Given the description of an element on the screen output the (x, y) to click on. 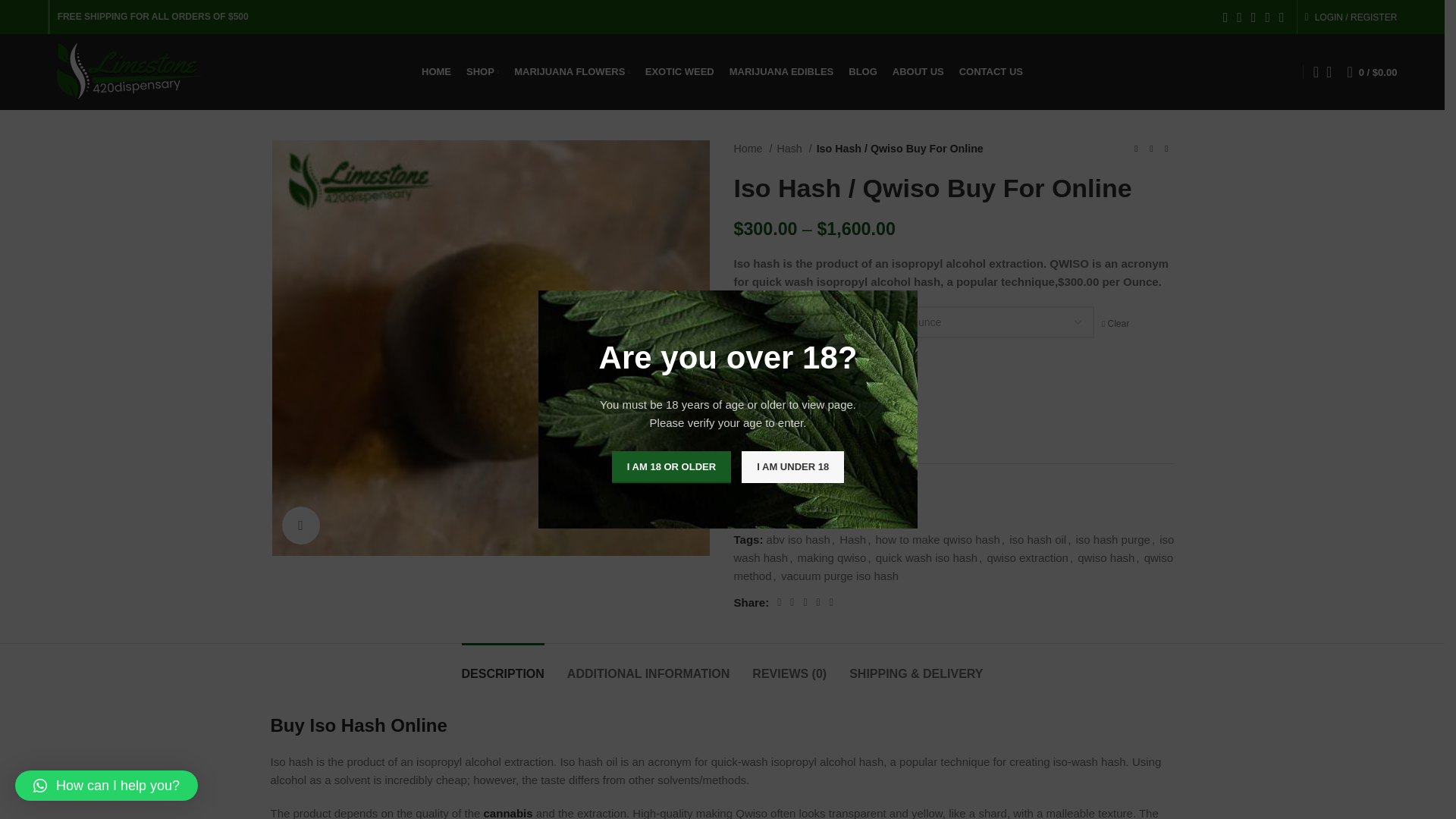
My account (1351, 16)
Hash (793, 149)
ABOUT US (917, 71)
Home (753, 149)
I AM 18 OR OLDER (670, 467)
I AM UNDER 18 (792, 467)
CONTACT US (991, 71)
Shopping cart (1372, 71)
MARIJUANA EDIBLES (780, 71)
SHOP (482, 71)
EXOTIC WEED (679, 71)
HOME (436, 71)
BLOG (862, 71)
MARIJUANA FLOWERS (571, 71)
